Given the description of an element on the screen output the (x, y) to click on. 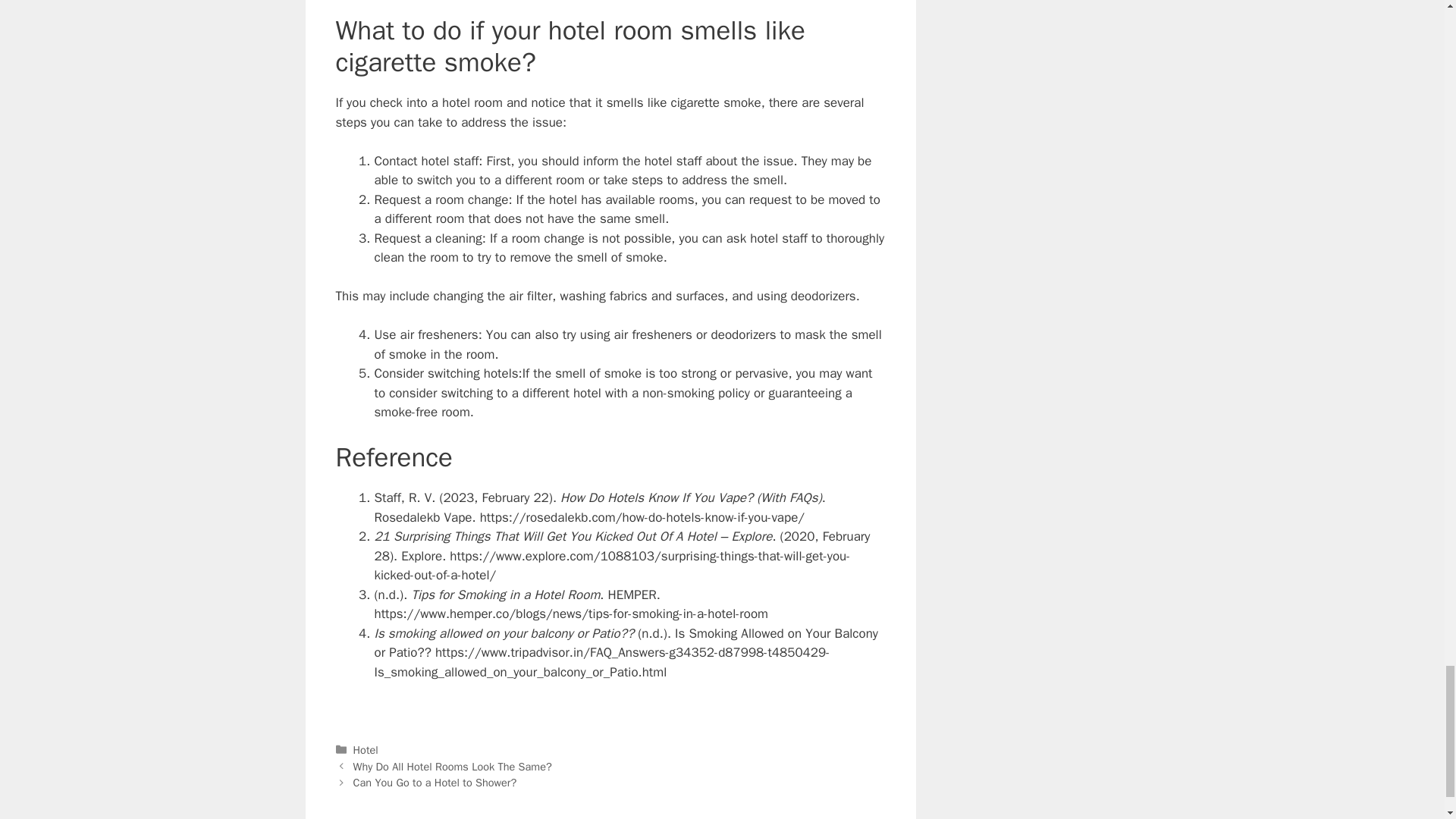
Can You Go to a Hotel to Shower? (434, 782)
Why Do All Hotel Rooms Look The Same? (452, 766)
Hotel (365, 749)
